Given the description of an element on the screen output the (x, y) to click on. 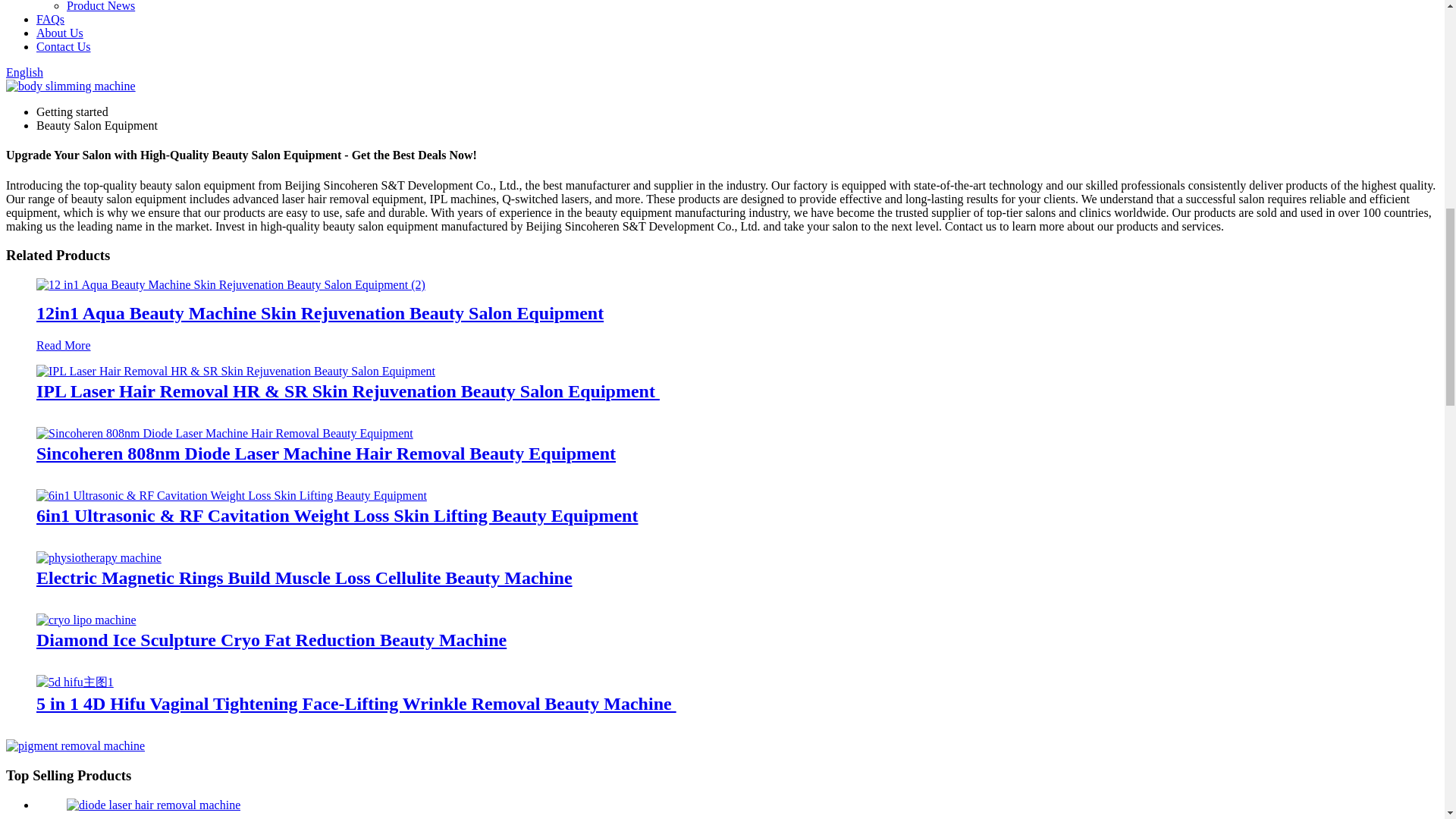
Diamond Ice Sculpture Cryo Fat Reduction Beauty Machine (271, 639)
Diamond Ice Sculpture Cryo Fat Reduction Beauty Machine (86, 618)
